Given the description of an element on the screen output the (x, y) to click on. 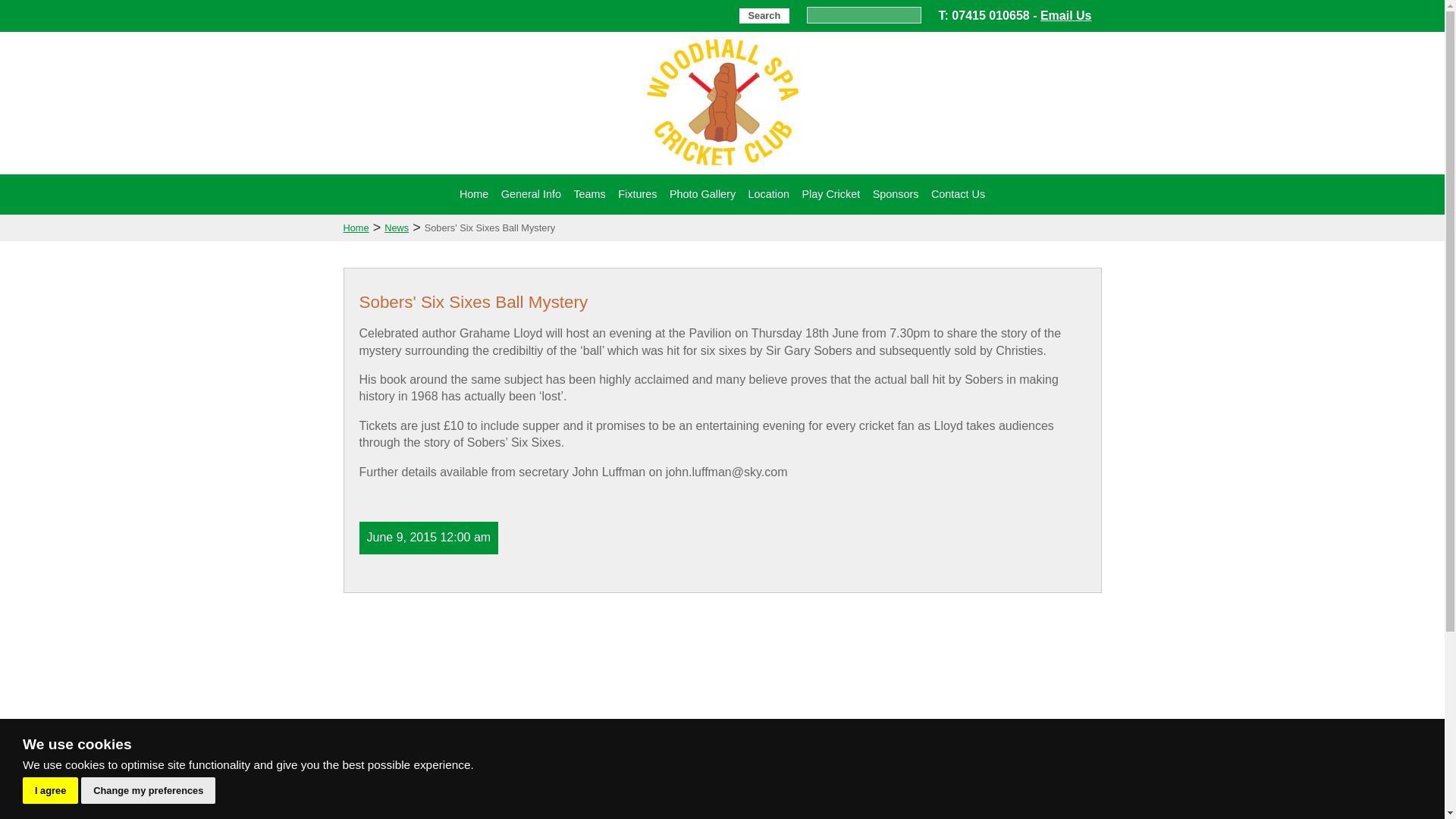
General Info (531, 194)
News (396, 227)
I agree (50, 790)
Home (355, 227)
Woodhall Spa Cricket Club (721, 164)
Sobers' Six Sixes Ball Mystery (489, 227)
Photo Gallery (702, 194)
Location (768, 194)
Teams (589, 194)
Email Us (1066, 15)
Contact Us (958, 194)
Search (764, 15)
Change my preferences (148, 790)
Fixtures (636, 194)
Home (473, 194)
